Given the description of an element on the screen output the (x, y) to click on. 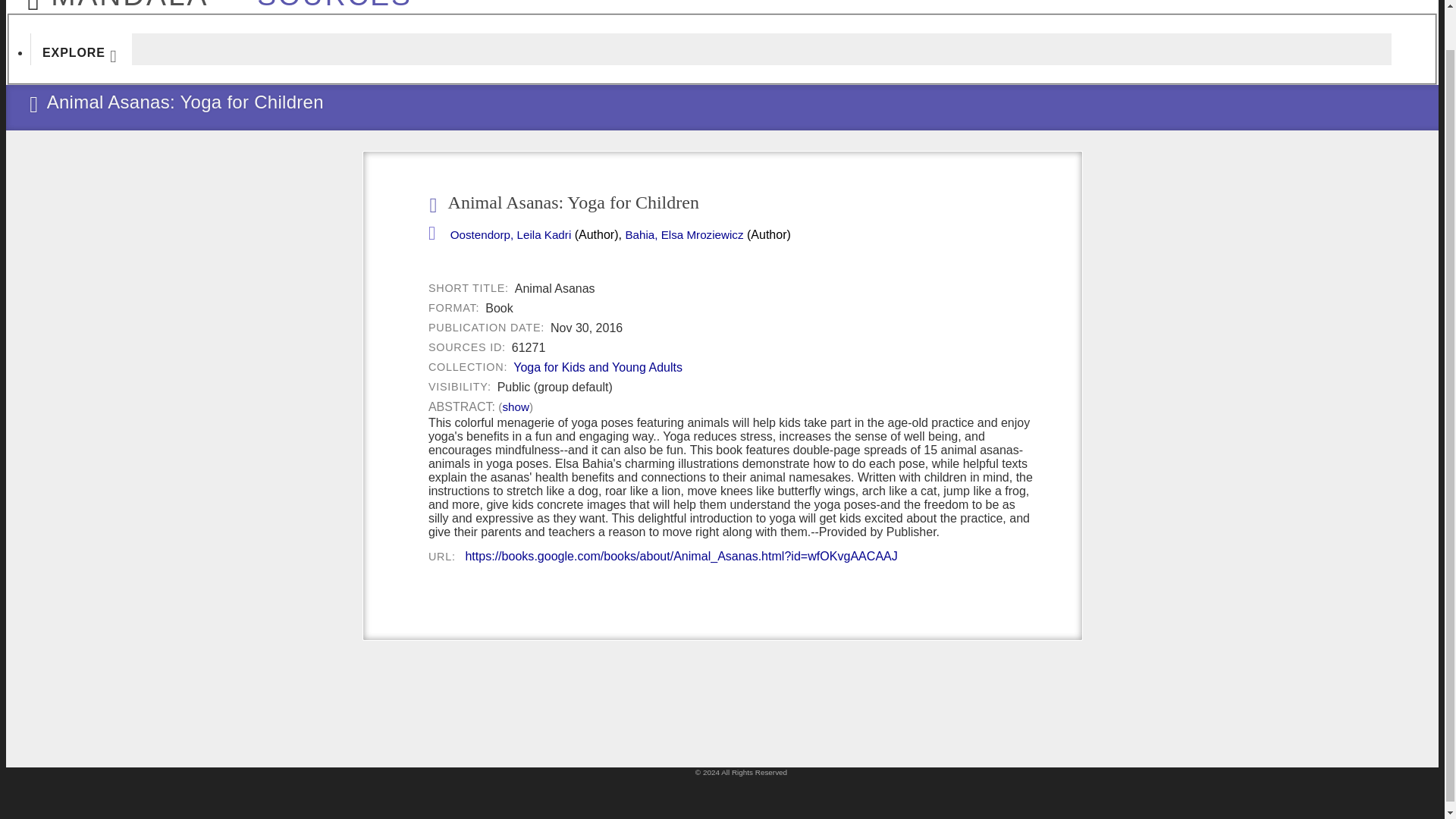
EXPLORE (81, 49)
show (515, 407)
Mandala Collections - Sources Homepage (326, 1)
Bahia, Elsa Mroziewicz (683, 234)
MANDALA (113, 1)
SOURCES (326, 1)
Yoga for Kids and Young Adults (597, 367)
Oostendorp, Leila Kadri (510, 234)
